Given the description of an element on the screen output the (x, y) to click on. 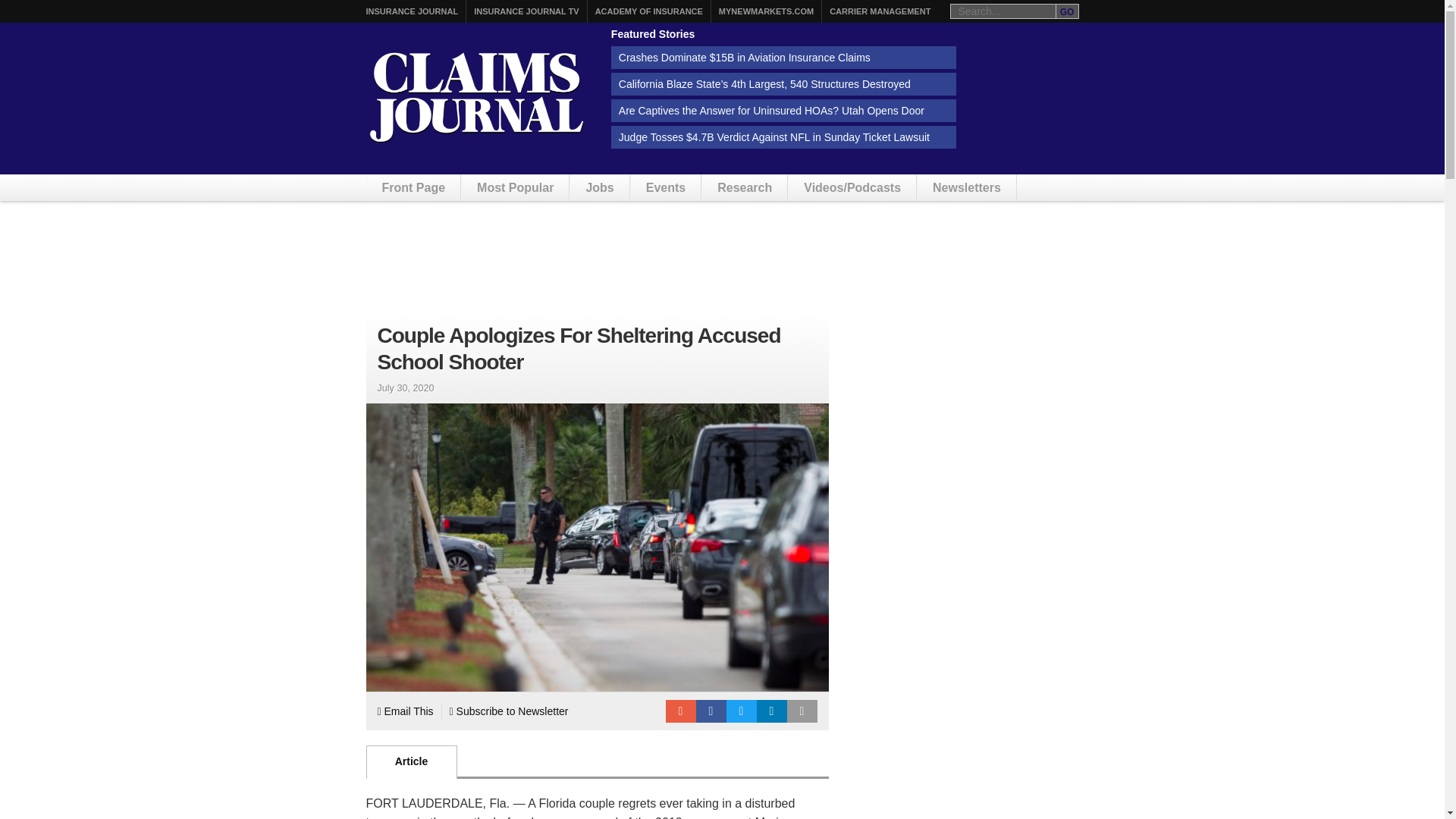
INSURANCE JOURNAL TV (526, 11)
Research (744, 187)
Newsletters (966, 187)
LinkedIn (772, 711)
Tweet (741, 711)
ACADEMY OF INSURANCE (649, 11)
Article (411, 761)
MYNEWMARKETS.COM (766, 11)
Go (1066, 11)
Print Article (801, 711)
Email to a friend (680, 711)
Jobs (599, 187)
Front Page (413, 187)
CARRIER MANAGEMENT (879, 11)
Most Popular (515, 187)
